Given the description of an element on the screen output the (x, y) to click on. 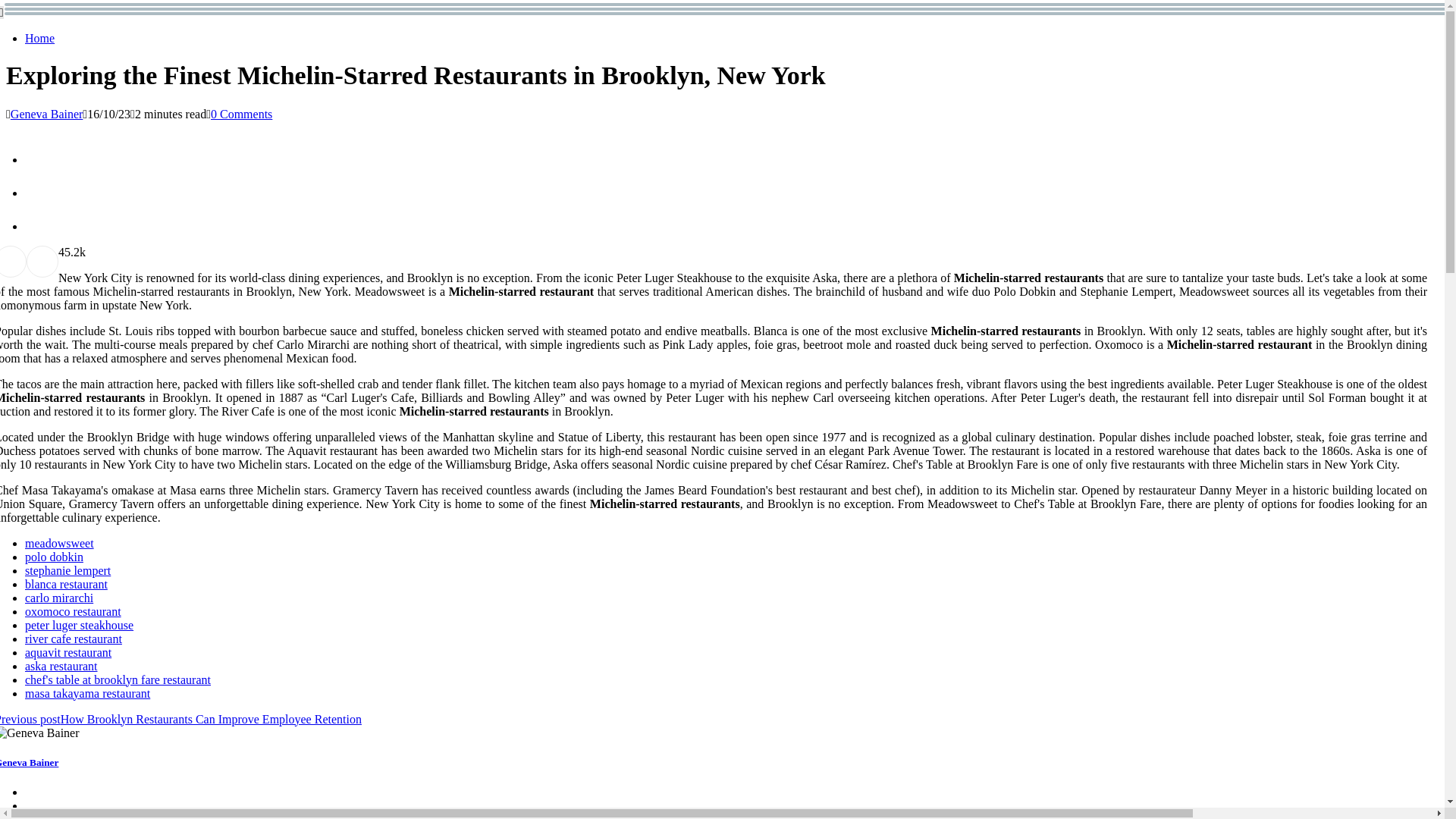
peter luger steakhouse (78, 625)
4 (61, 251)
aquavit restaurant (68, 652)
meadowsweet (59, 543)
Geneva Bainer (29, 762)
Like (61, 251)
Geneva Bainer (46, 113)
0 Comments (241, 113)
polo dobkin (53, 556)
masa takayama restaurant (86, 693)
stephanie lempert (67, 570)
river cafe restaurant (73, 638)
Posts by Geneva Bainer (46, 113)
oxomoco restaurant (72, 611)
